Given the description of an element on the screen output the (x, y) to click on. 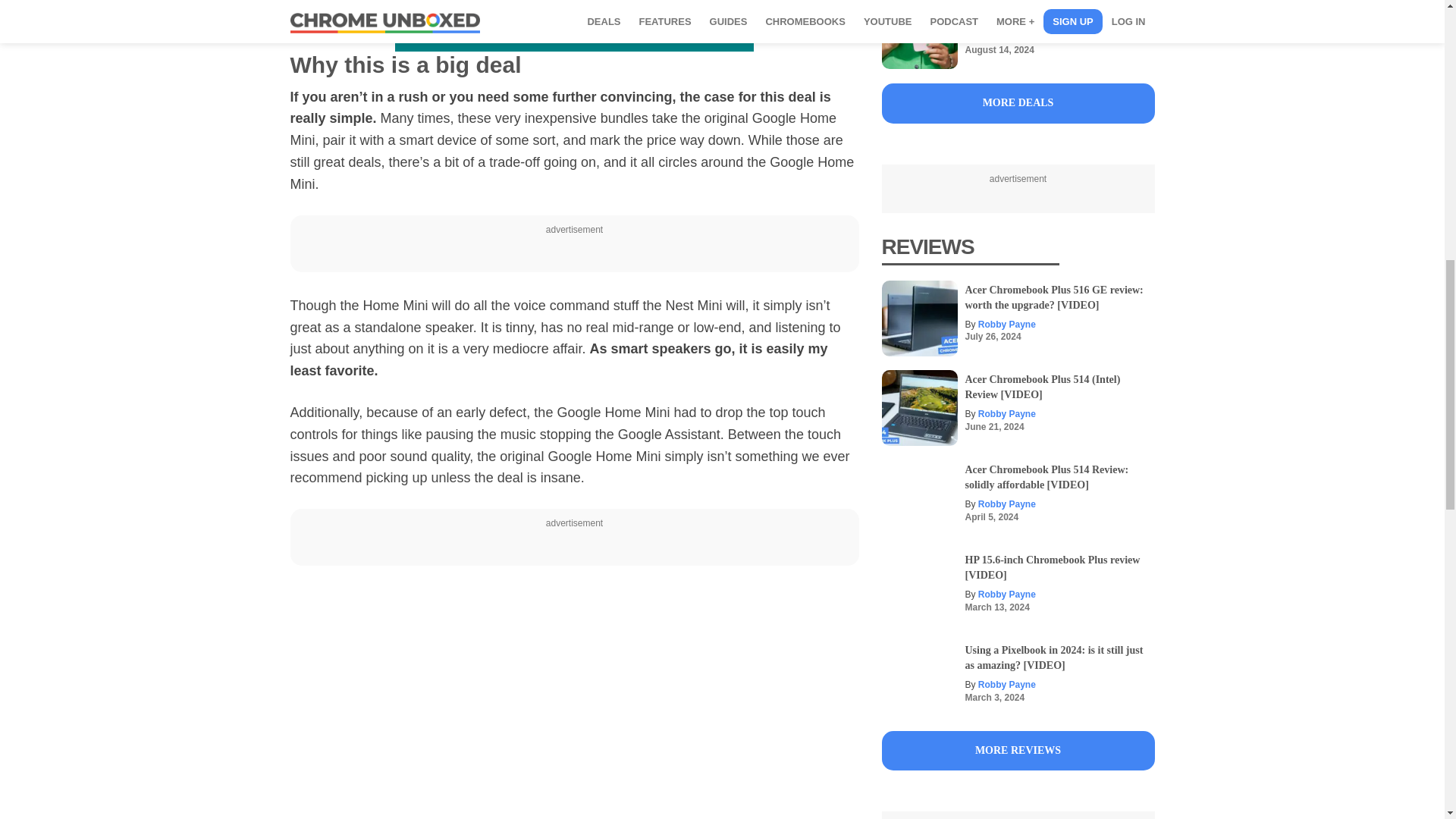
Why Google's Nest Mini Is Worth the Upgrade (574, 703)
Deals (1017, 102)
Reviews (1017, 750)
